Given the description of an element on the screen output the (x, y) to click on. 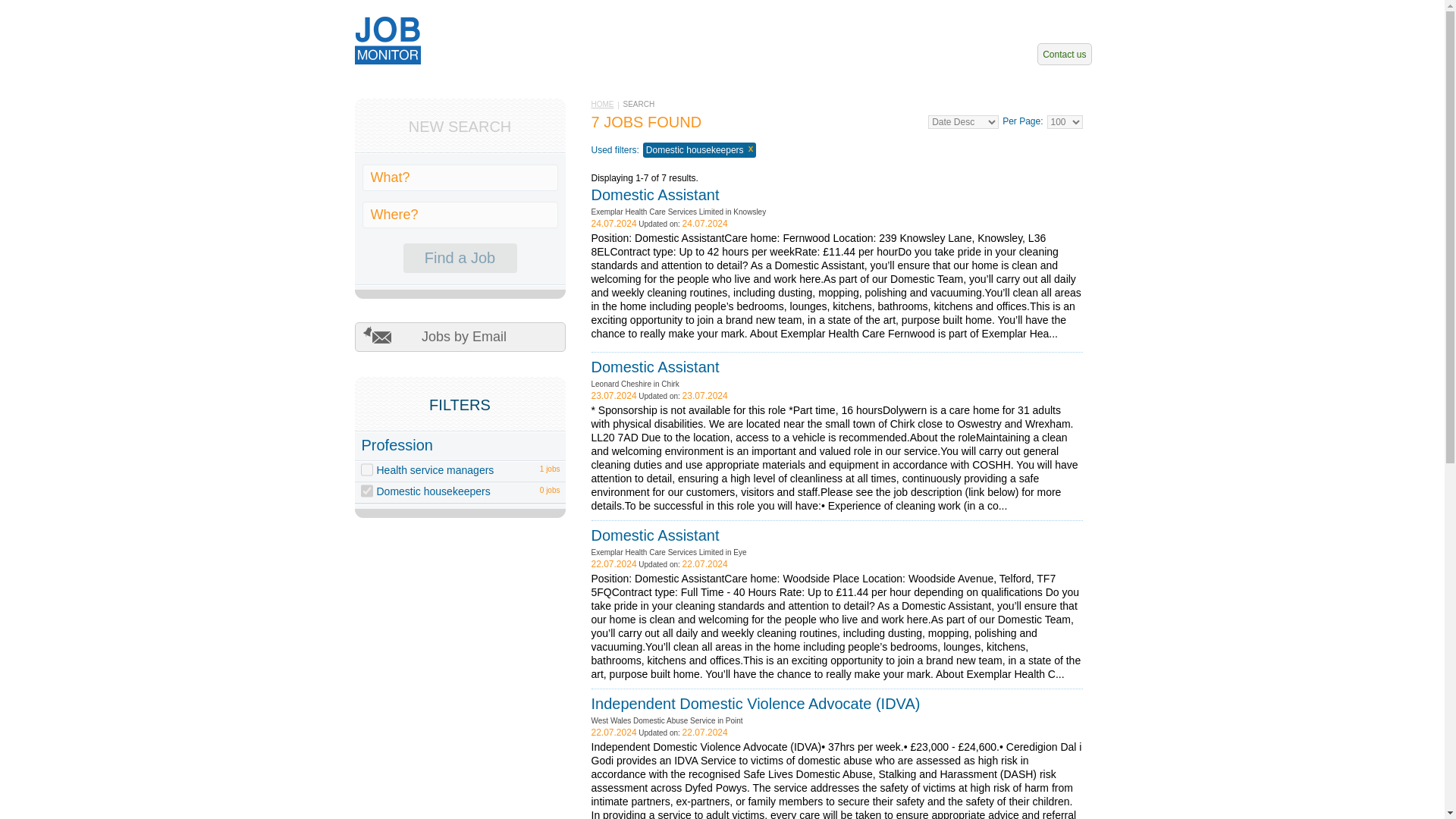
Find a Job (459, 257)
Domestic housekeepers (432, 490)
Find a Job (459, 257)
health-service-managers-43 (366, 469)
Domestic Assistant (655, 535)
Jobs by Email (460, 337)
Domestic Assistant (655, 194)
HOME (602, 103)
Contact us (1063, 54)
Domestic Assistant (655, 366)
domestic-housekeepers-352 (366, 490)
Health service managers (434, 469)
Jobs by Email (460, 337)
